Given the description of an element on the screen output the (x, y) to click on. 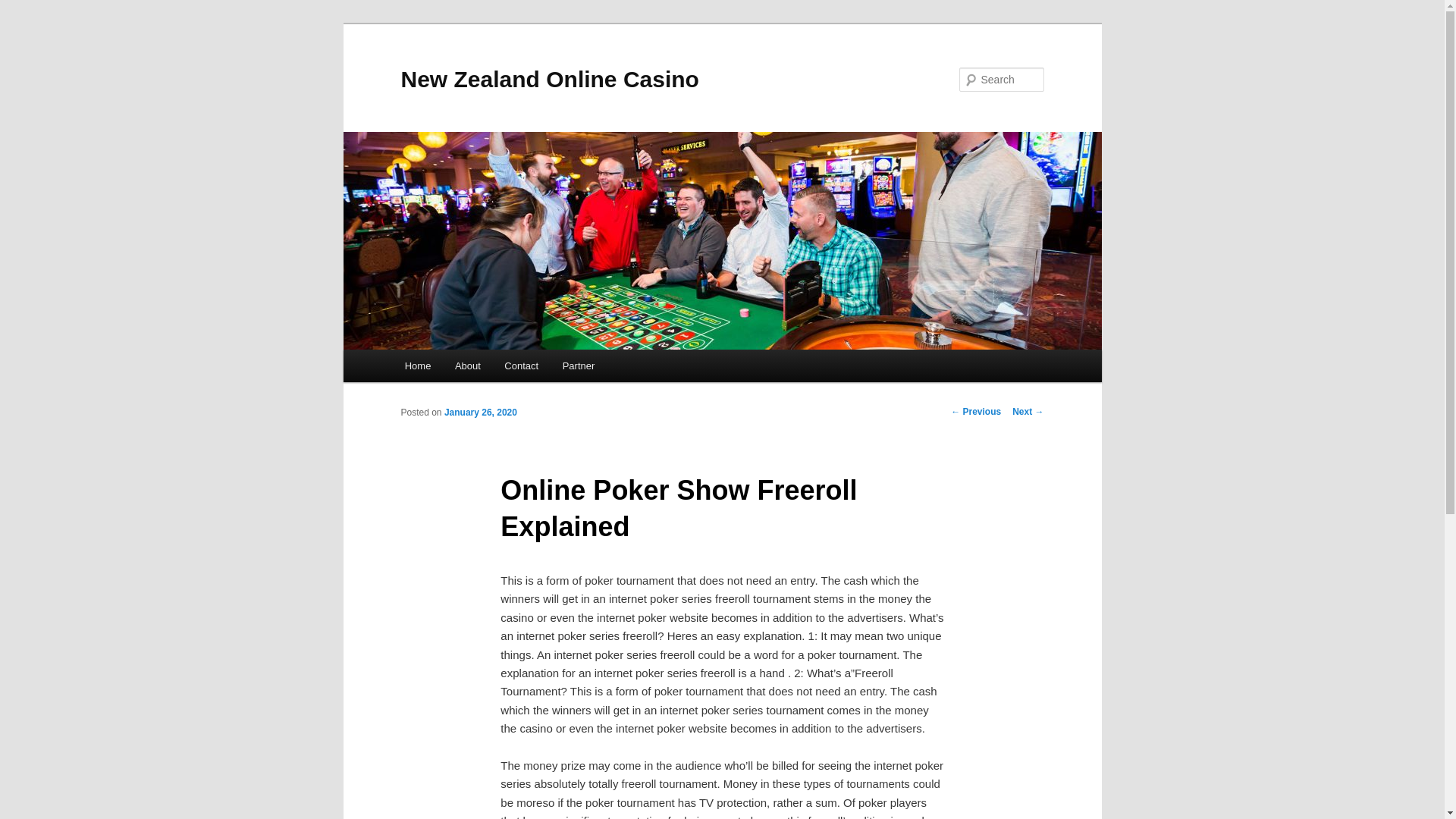
Contact (521, 365)
About (467, 365)
New Zealand Online Casino (549, 78)
January 26, 2020 (480, 412)
Search (24, 8)
1:28 pm (480, 412)
Home (417, 365)
Partner (578, 365)
